Given the description of an element on the screen output the (x, y) to click on. 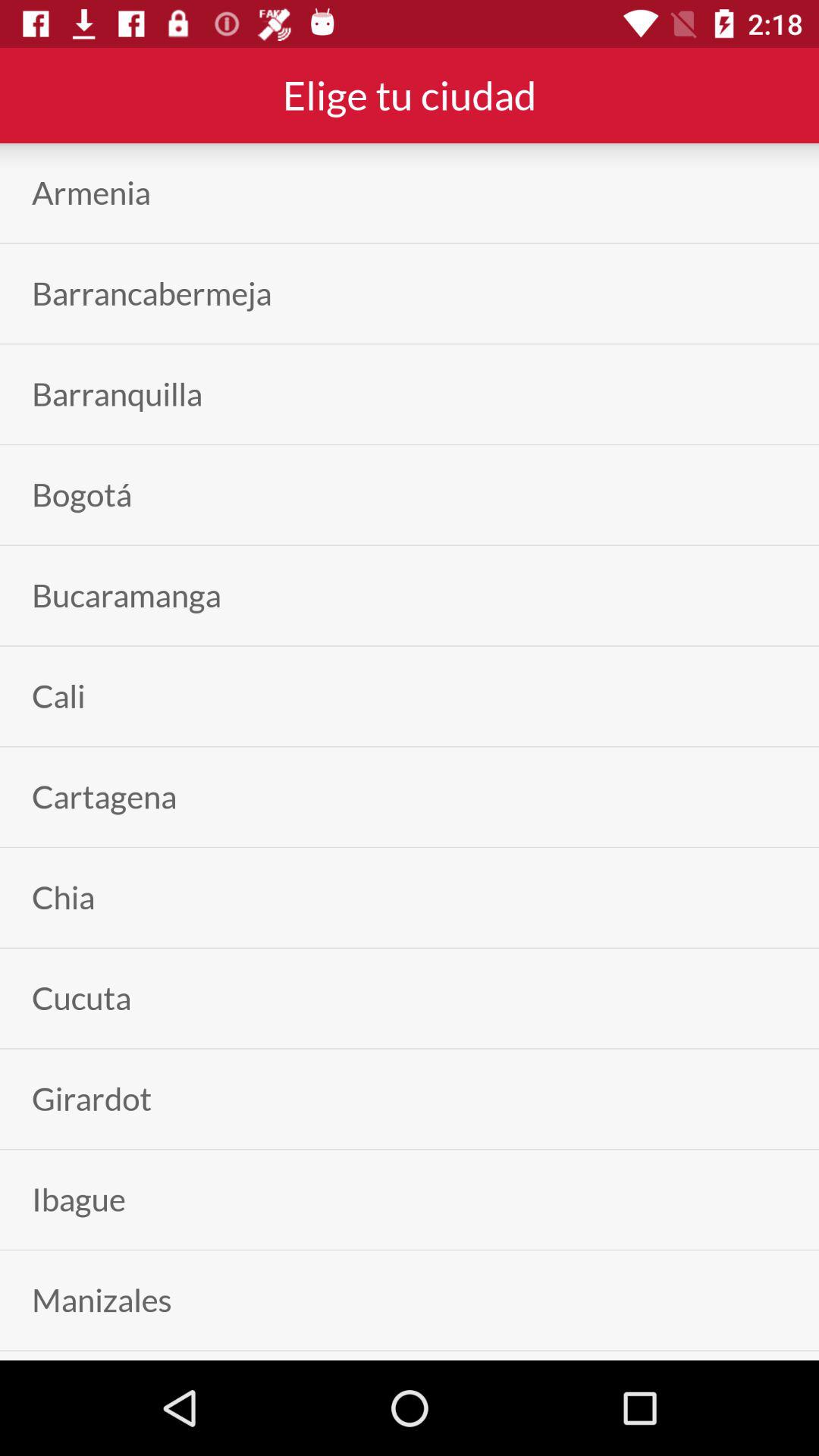
select the icon below cali (103, 797)
